Given the description of an element on the screen output the (x, y) to click on. 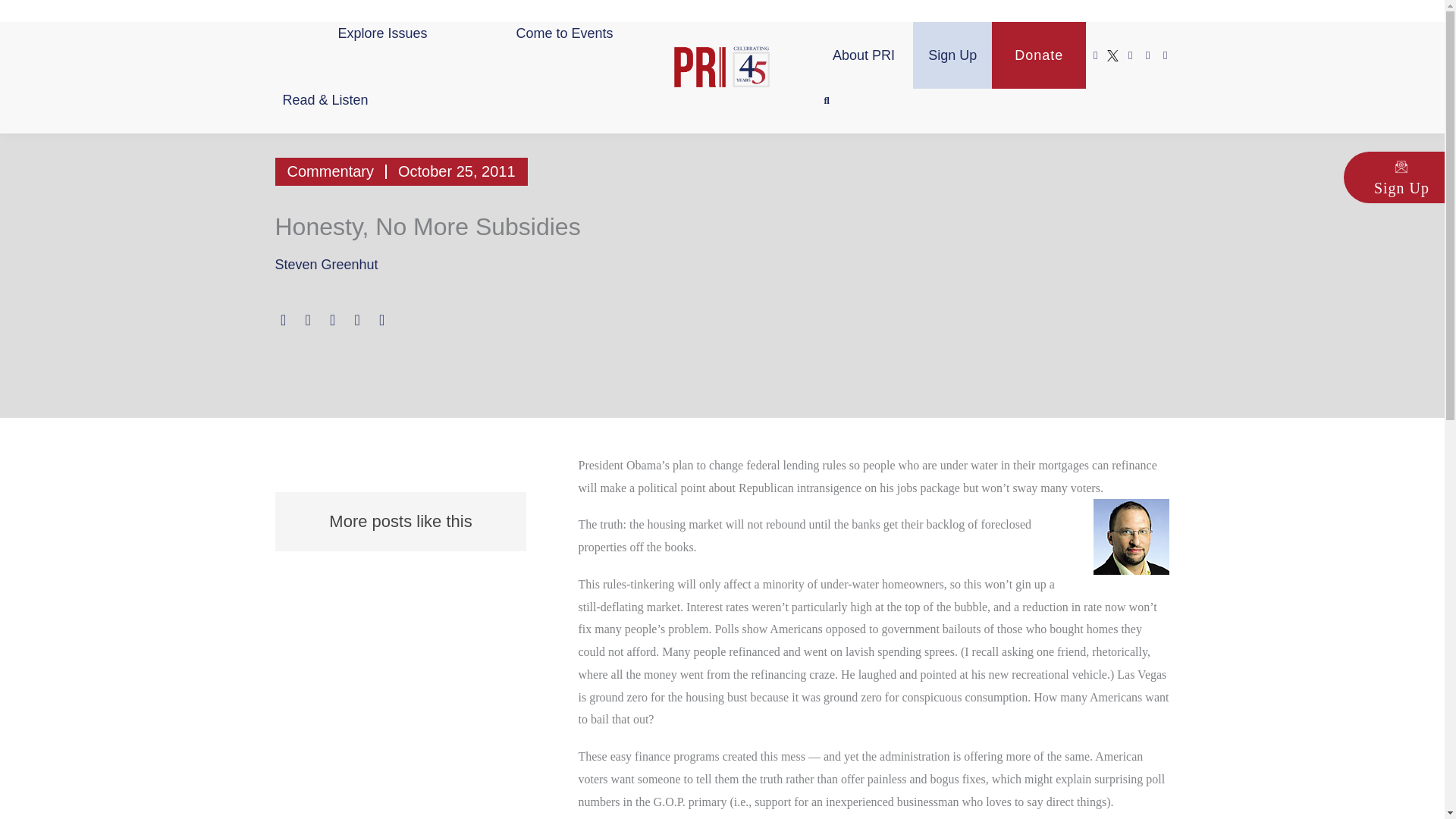
Explore Issues (381, 33)
Come to Events (563, 33)
